Given the description of an element on the screen output the (x, y) to click on. 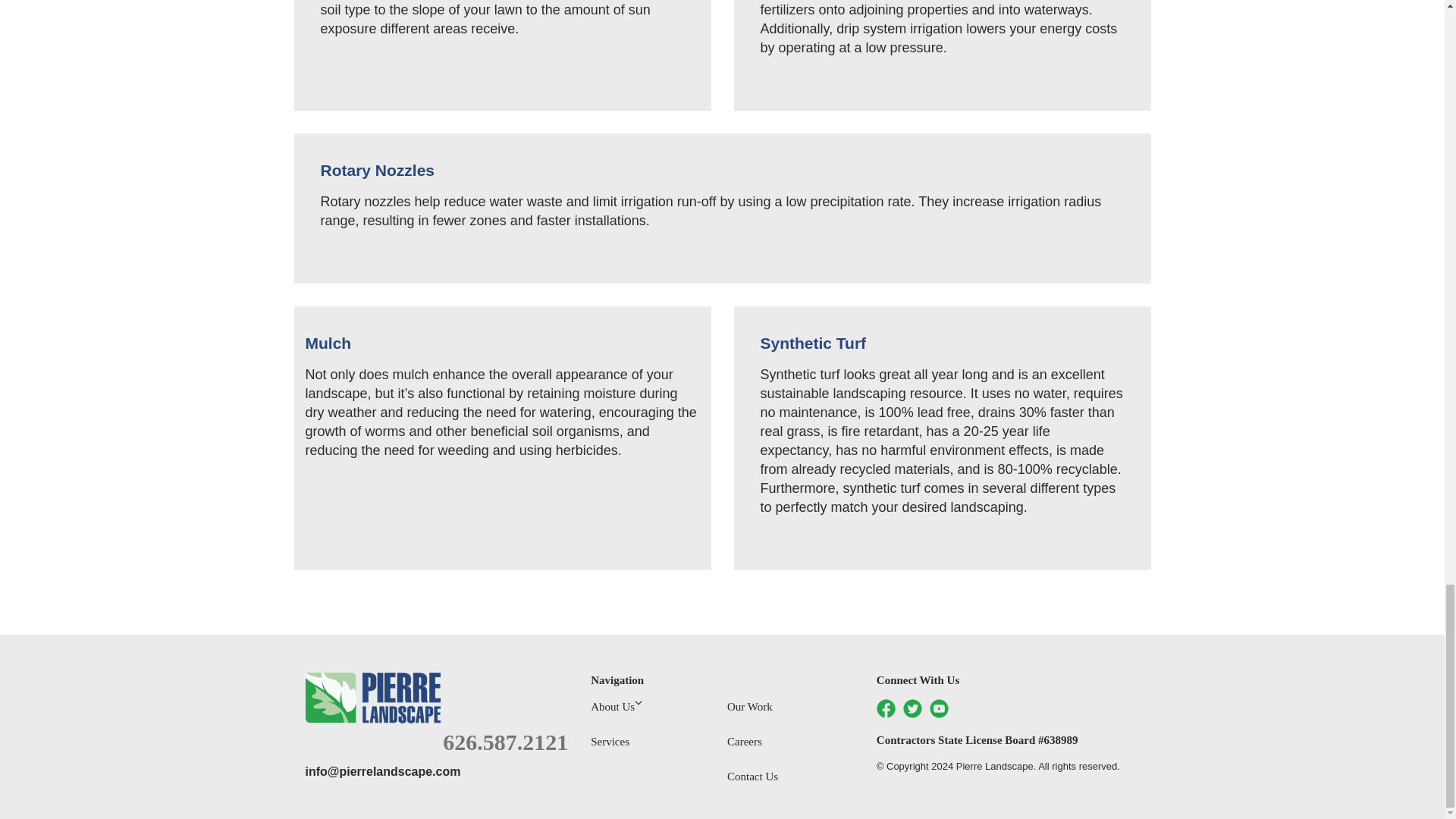
Our Work (749, 710)
626.587.2121 (504, 741)
Careers (743, 745)
Contact Us (751, 776)
Services (609, 745)
About Us (616, 710)
